Given the description of an element on the screen output the (x, y) to click on. 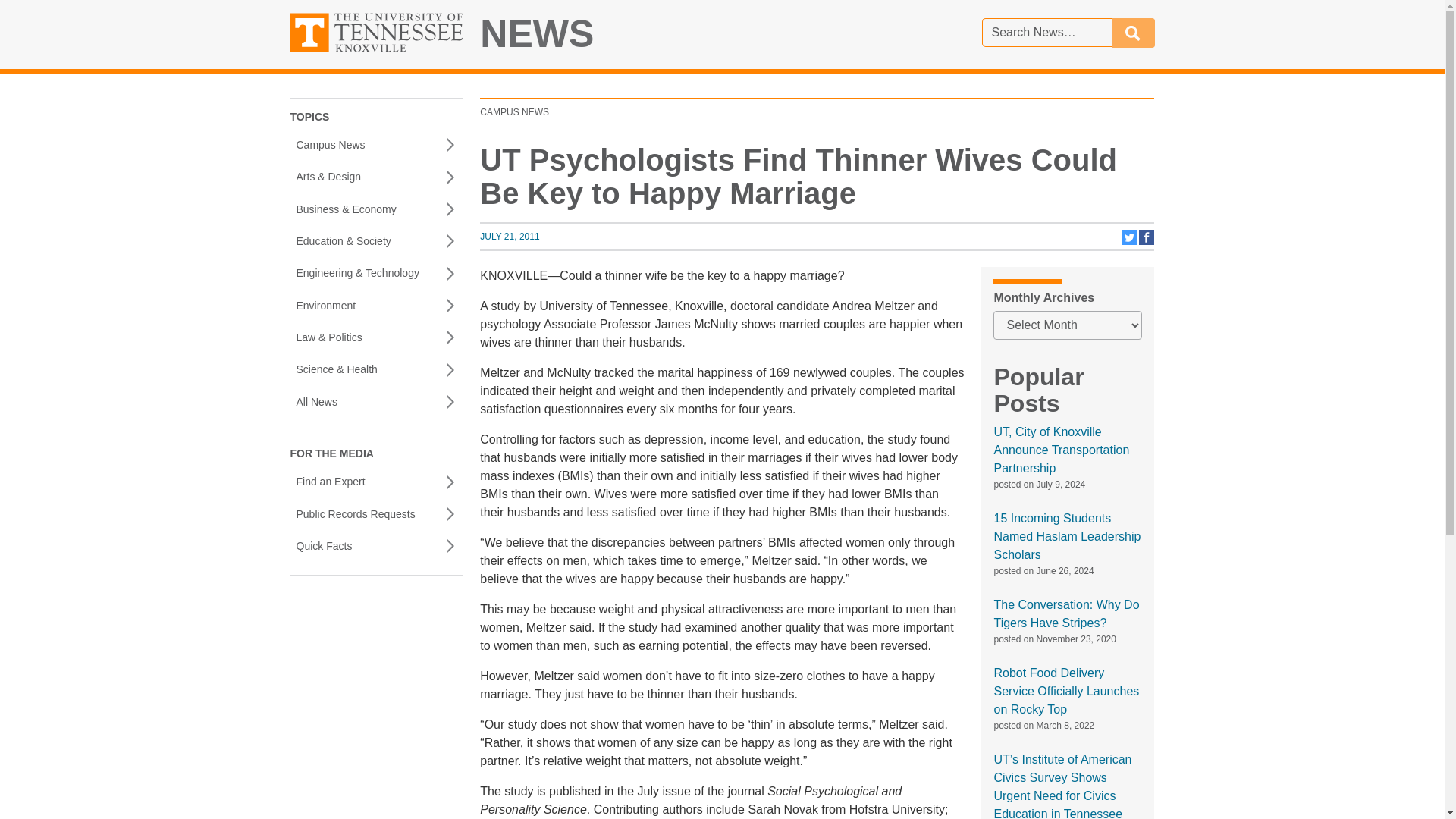
15 Incoming Students Named Haslam Leadership Scholars (1066, 536)
Public Records Requests (376, 513)
NEWS (537, 34)
Quick Facts (376, 545)
Share on Facebook. (1146, 241)
Share on Twitter. (1129, 241)
View all posts in Campus News (514, 112)
Search for: (1045, 32)
CAMPUS NEWS (514, 112)
All News (376, 401)
